Given the description of an element on the screen output the (x, y) to click on. 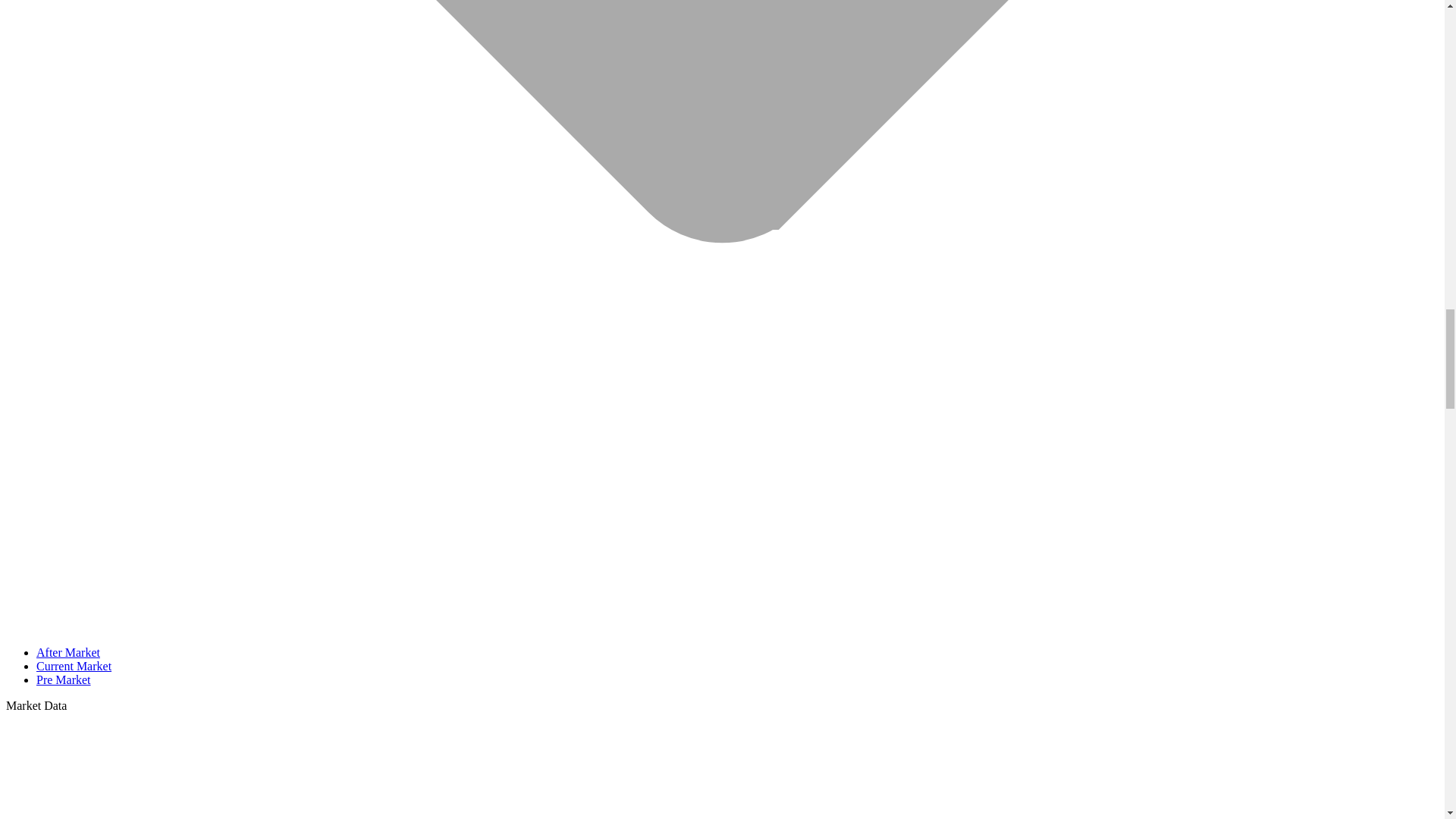
Pre Market (63, 679)
After Market (68, 652)
Current Market (74, 666)
